Given the description of an element on the screen output the (x, y) to click on. 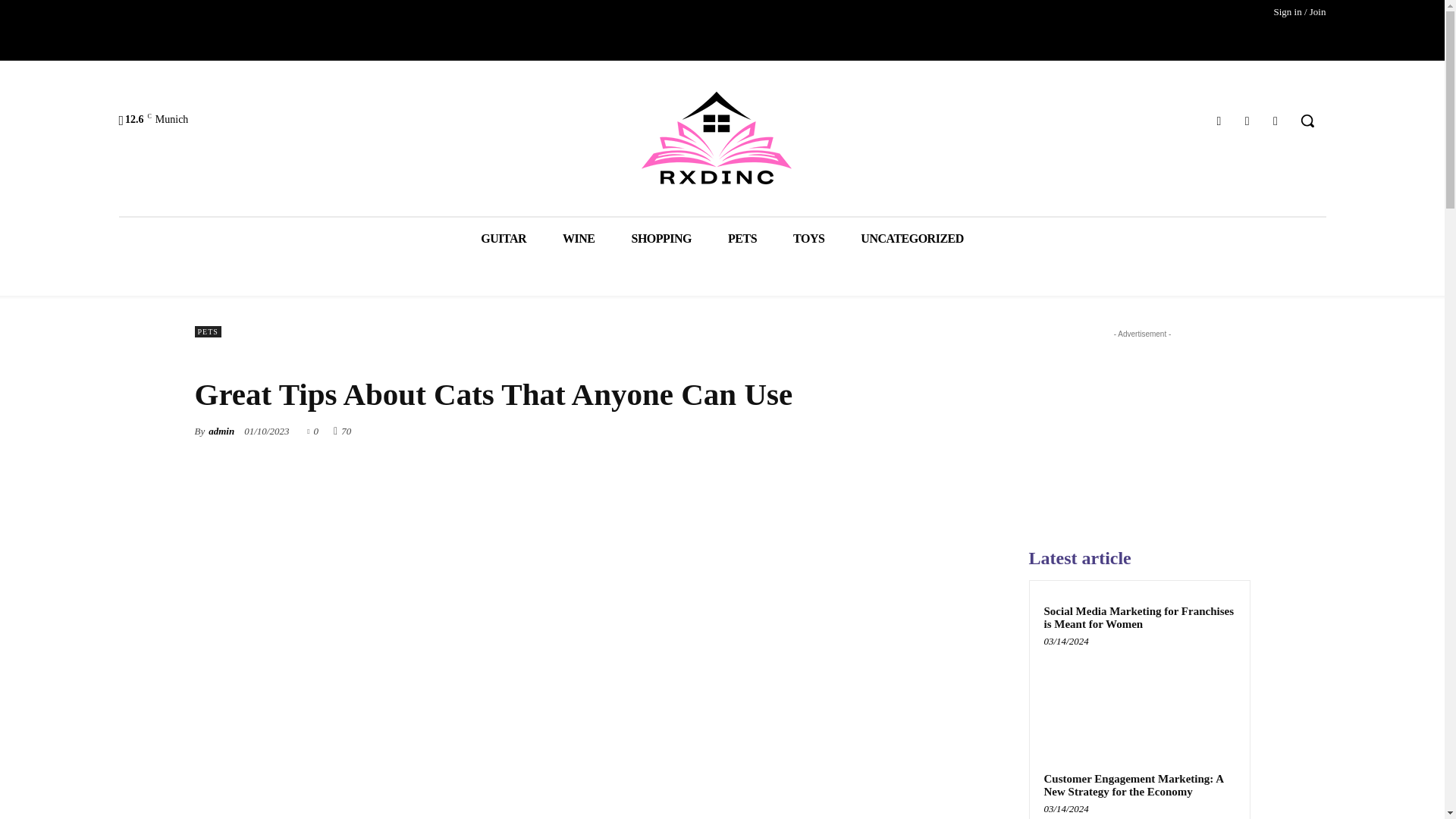
PETS (742, 238)
WINE (578, 238)
UNCATEGORIZED (912, 238)
Twitter (1246, 120)
TOYS (808, 238)
Youtube (1275, 120)
admin (221, 431)
GUITAR (503, 238)
0 (312, 430)
PETS (207, 331)
